Given the description of an element on the screen output the (x, y) to click on. 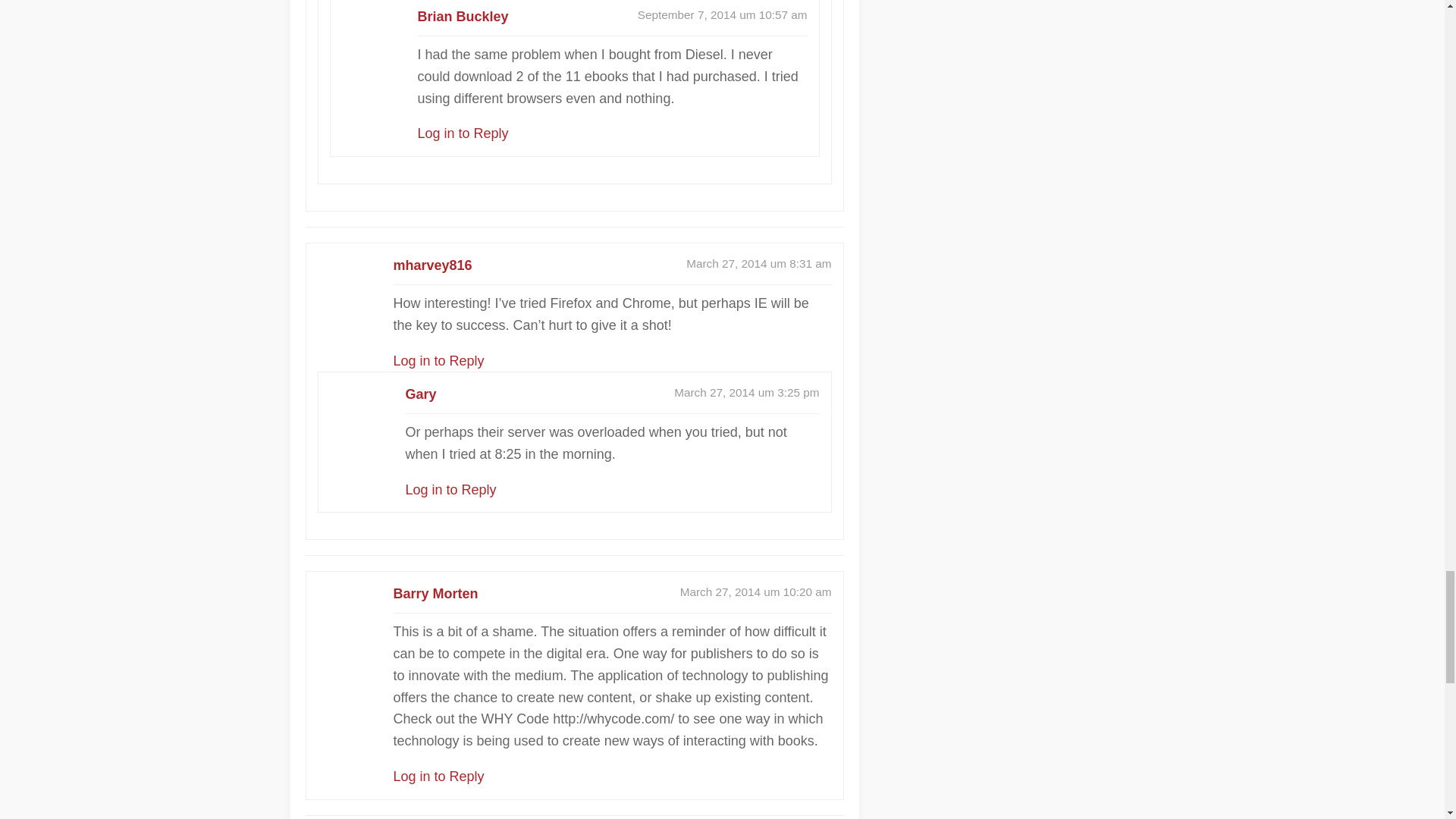
Log in to Reply (462, 133)
Log in to Reply (450, 489)
Log in to Reply (438, 776)
Log in to Reply (438, 360)
